Given the description of an element on the screen output the (x, y) to click on. 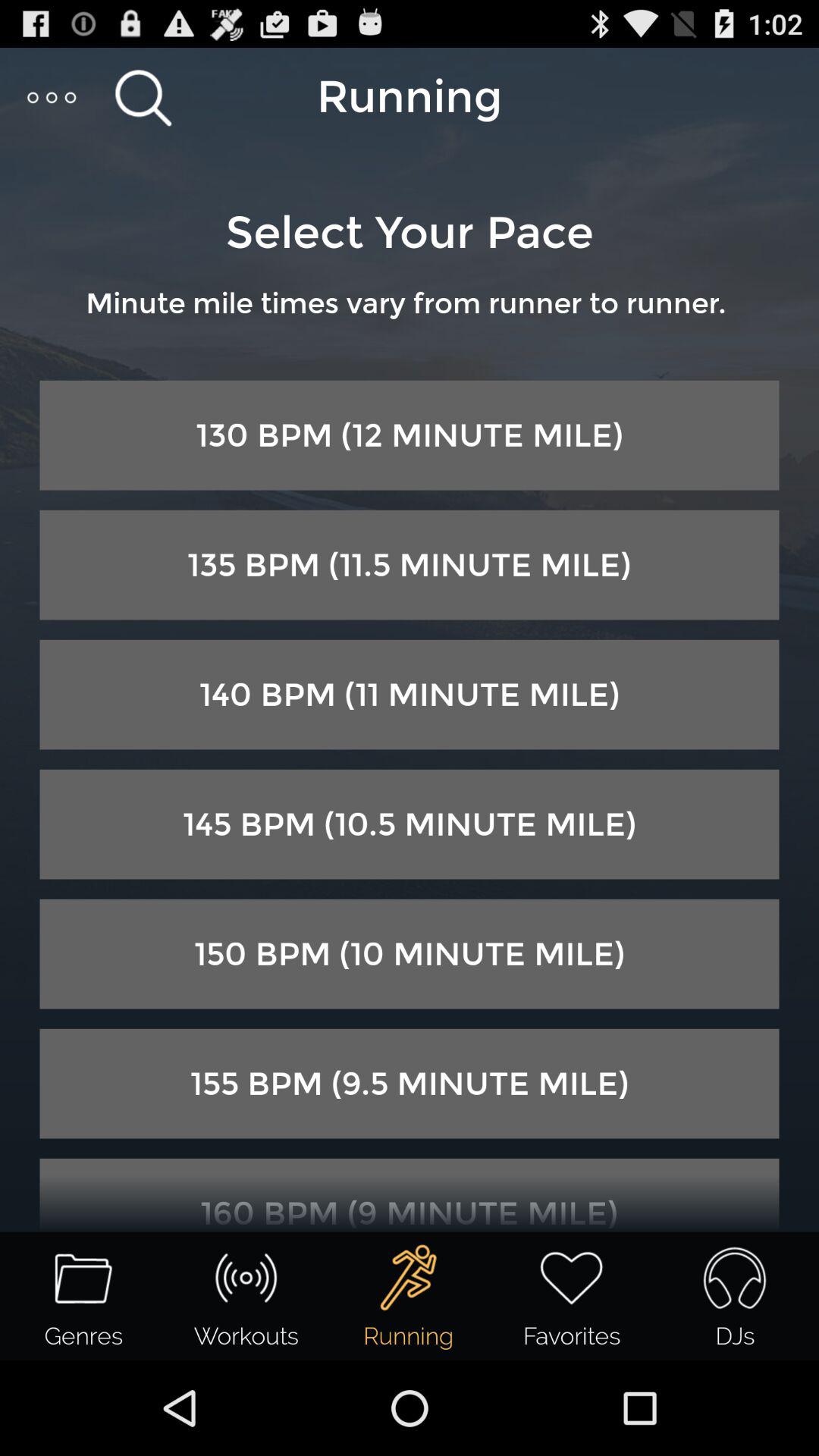
turn on the item above select your pace (52, 97)
